Given the description of an element on the screen output the (x, y) to click on. 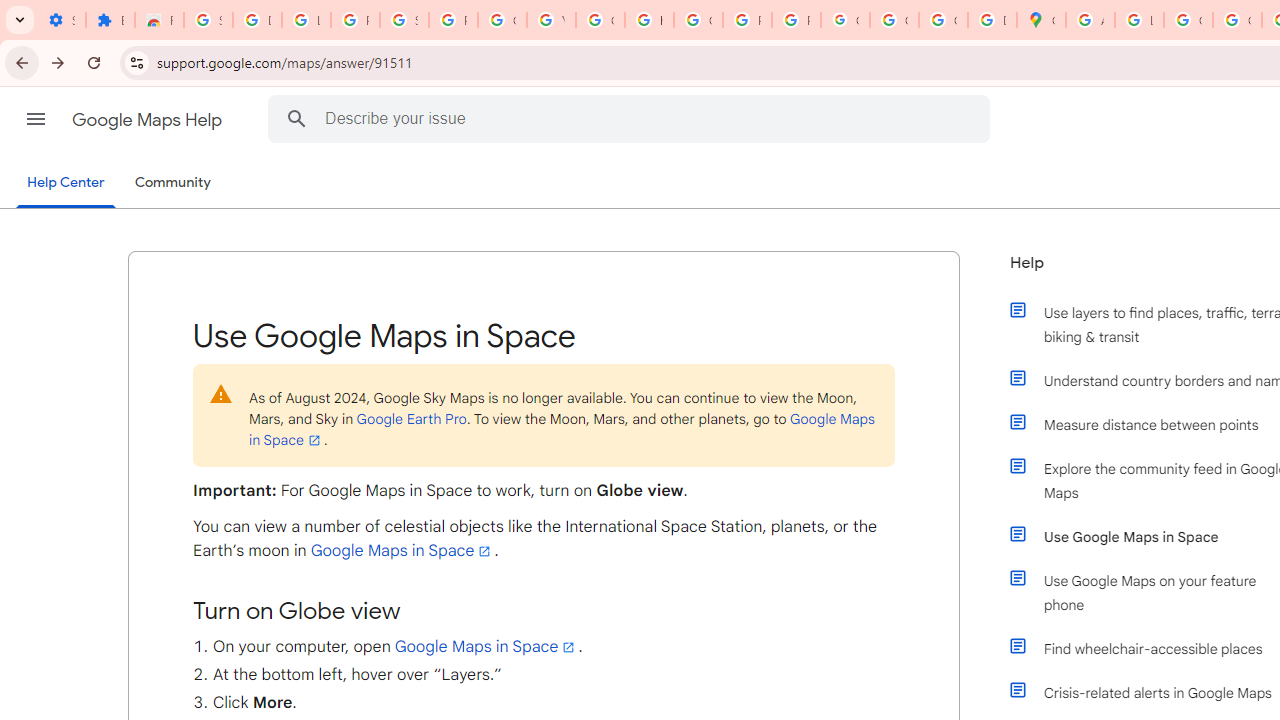
Describe your issue (632, 118)
https://scholar.google.com/ (649, 20)
Google Earth Pro (411, 418)
Google Maps (1041, 20)
Google Maps in Space (486, 646)
Reviews: Helix Fruit Jump Arcade Game (159, 20)
